Given the description of an element on the screen output the (x, y) to click on. 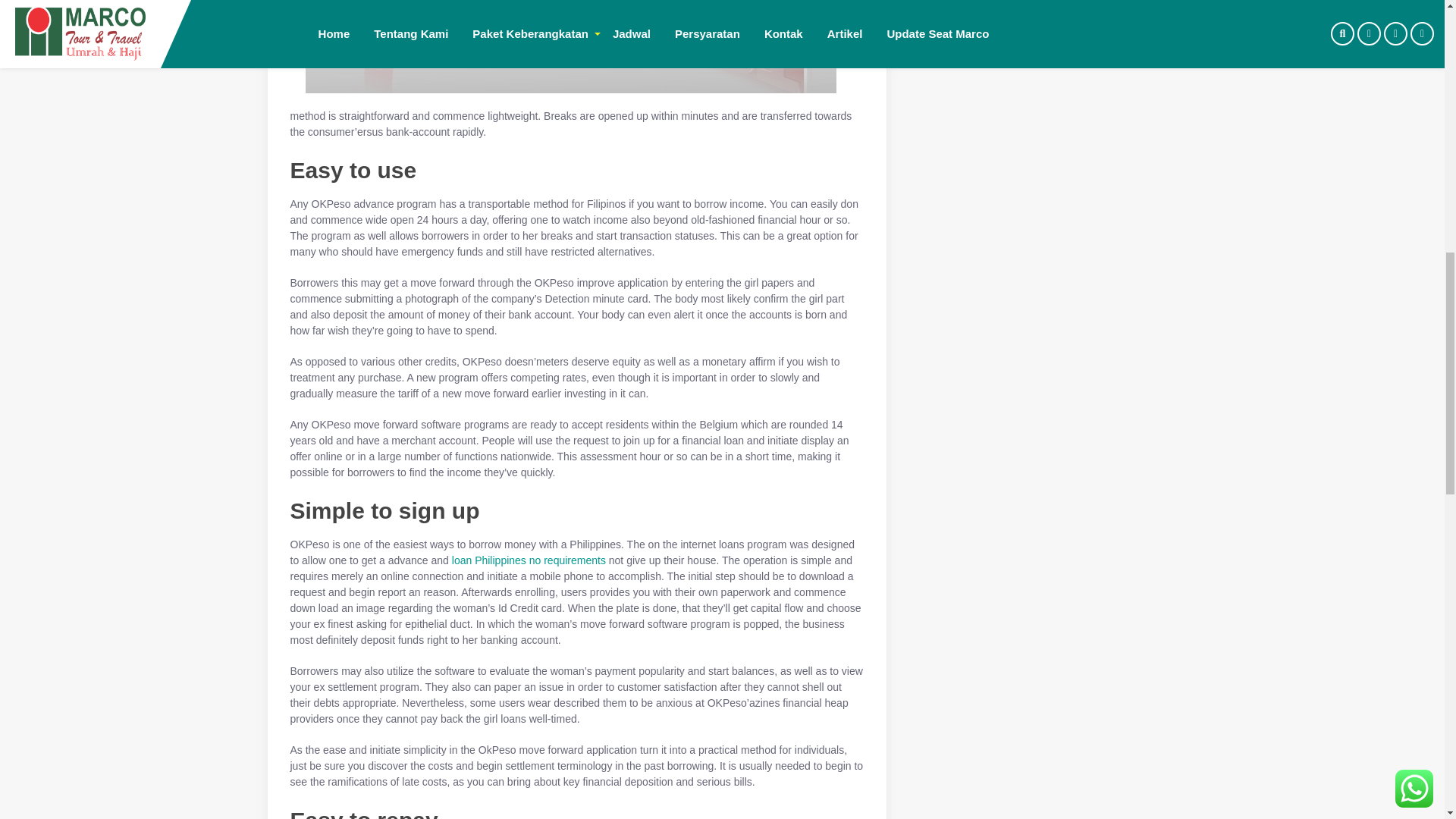
loan Philippines no requirements (528, 560)
